Given the description of an element on the screen output the (x, y) to click on. 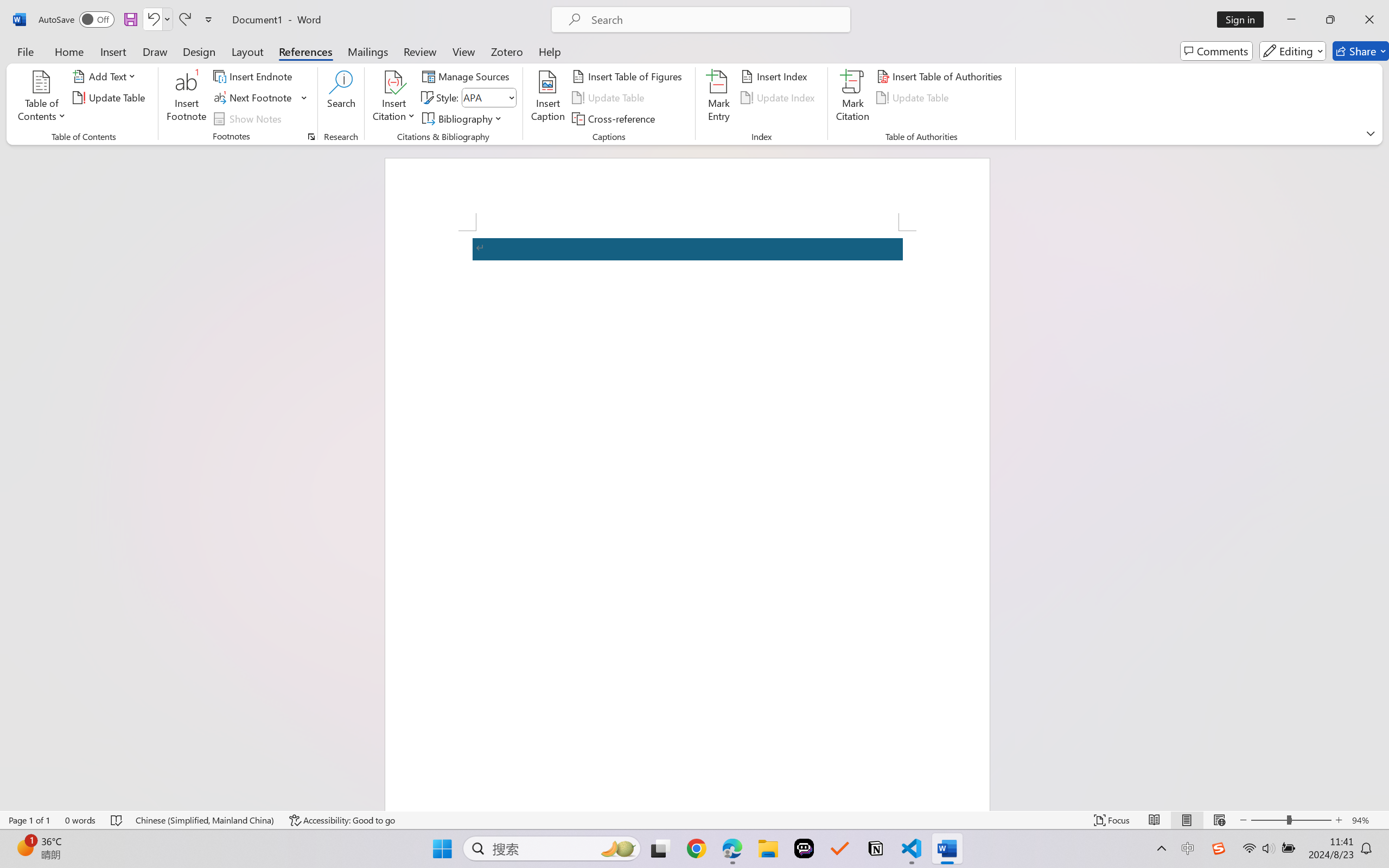
Cross-reference... (615, 118)
Insert Endnote (253, 75)
Footnote and Endnote Dialog... (311, 136)
Search (341, 97)
Next Footnote (253, 97)
